Given the description of an element on the screen output the (x, y) to click on. 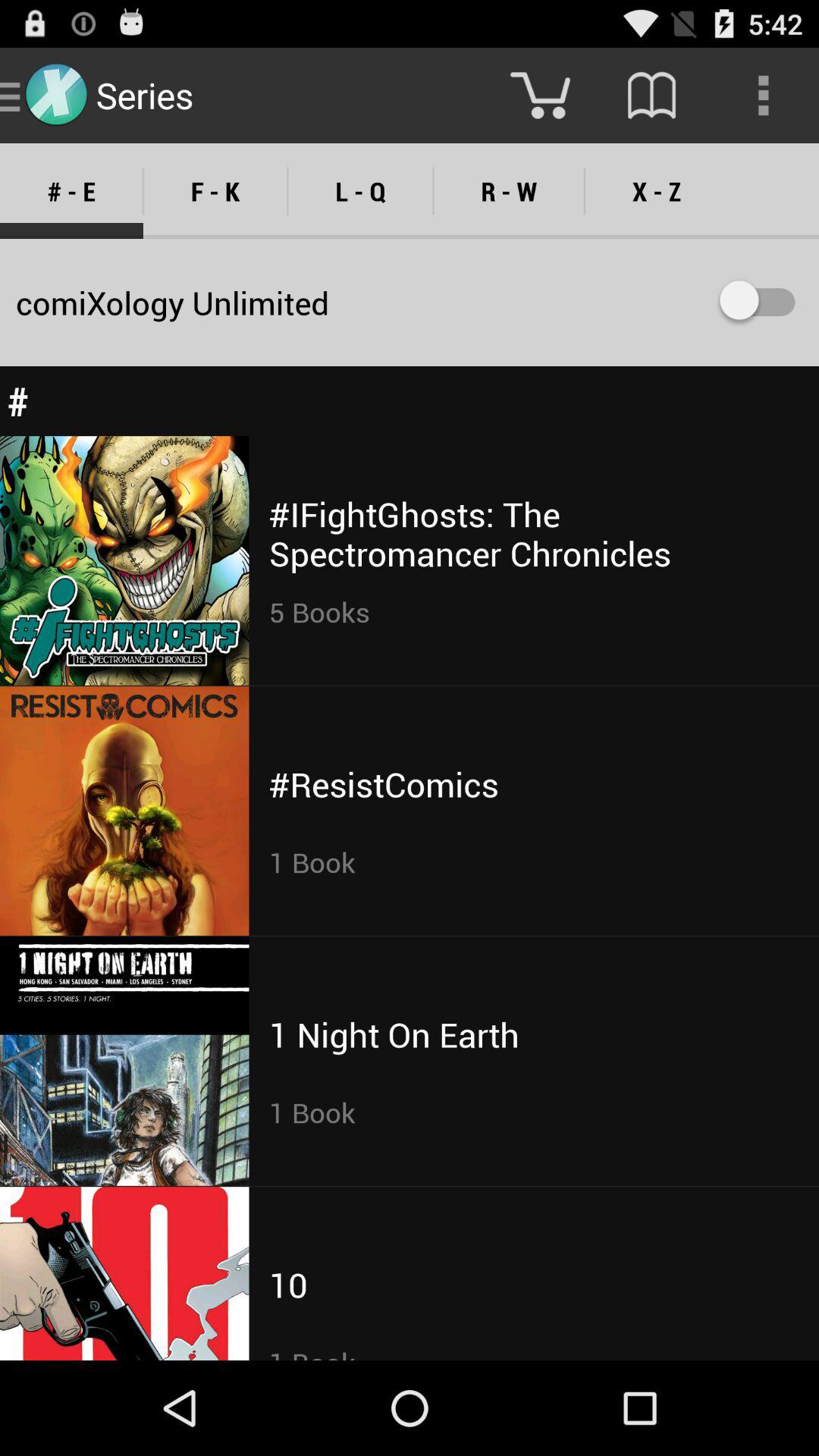
press icon below the series app (215, 190)
